Given the description of an element on the screen output the (x, y) to click on. 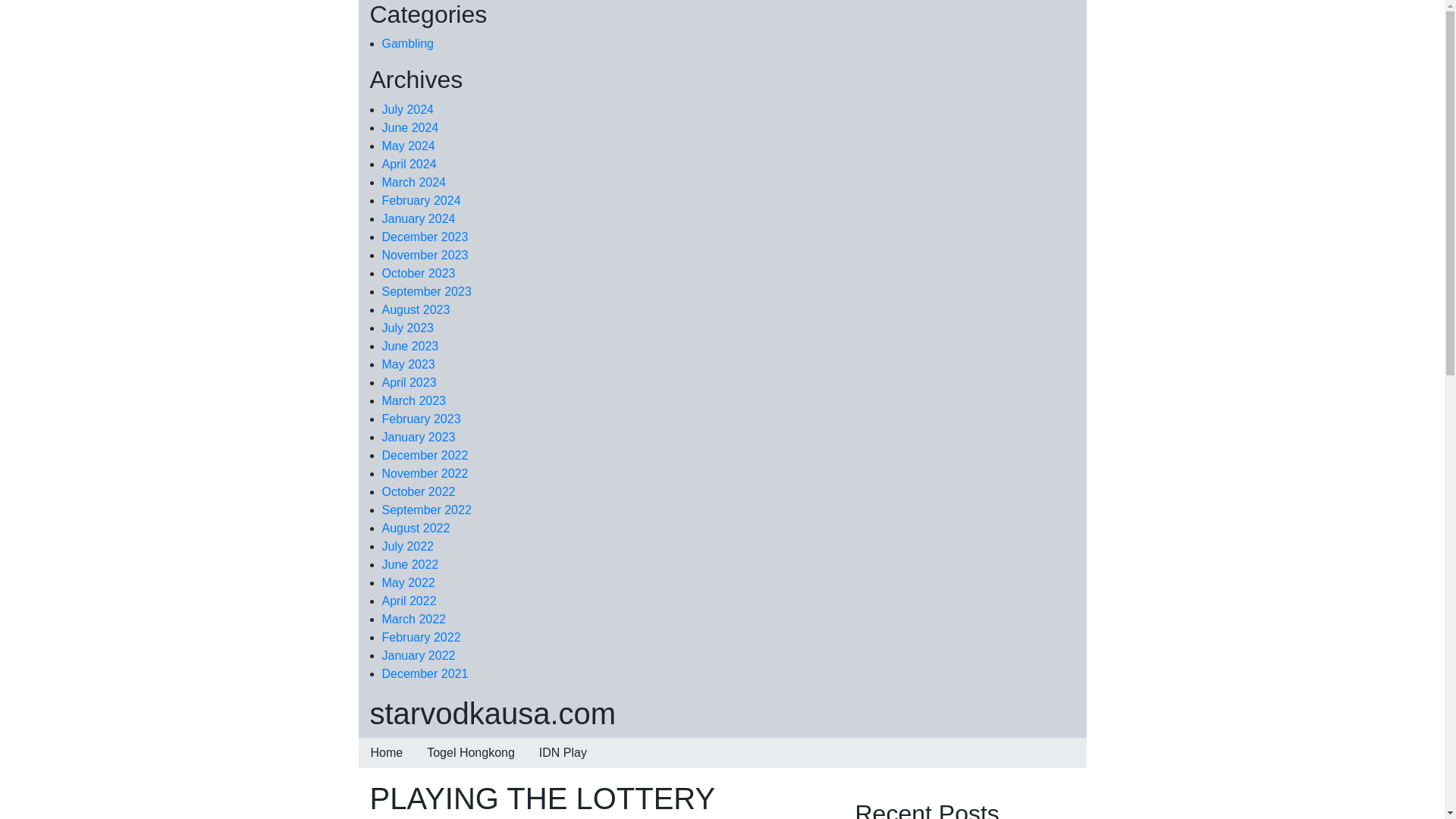
May 2022 (408, 582)
January 2022 (418, 655)
December 2022 (424, 454)
March 2023 (413, 400)
IDN Play (562, 752)
July 2023 (407, 327)
November 2023 (424, 254)
March 2024 (413, 182)
Gambling (407, 42)
September 2022 (426, 509)
April 2023 (408, 382)
May 2023 (408, 364)
October 2023 (418, 273)
October 2022 (418, 491)
February 2023 (421, 418)
